Given the description of an element on the screen output the (x, y) to click on. 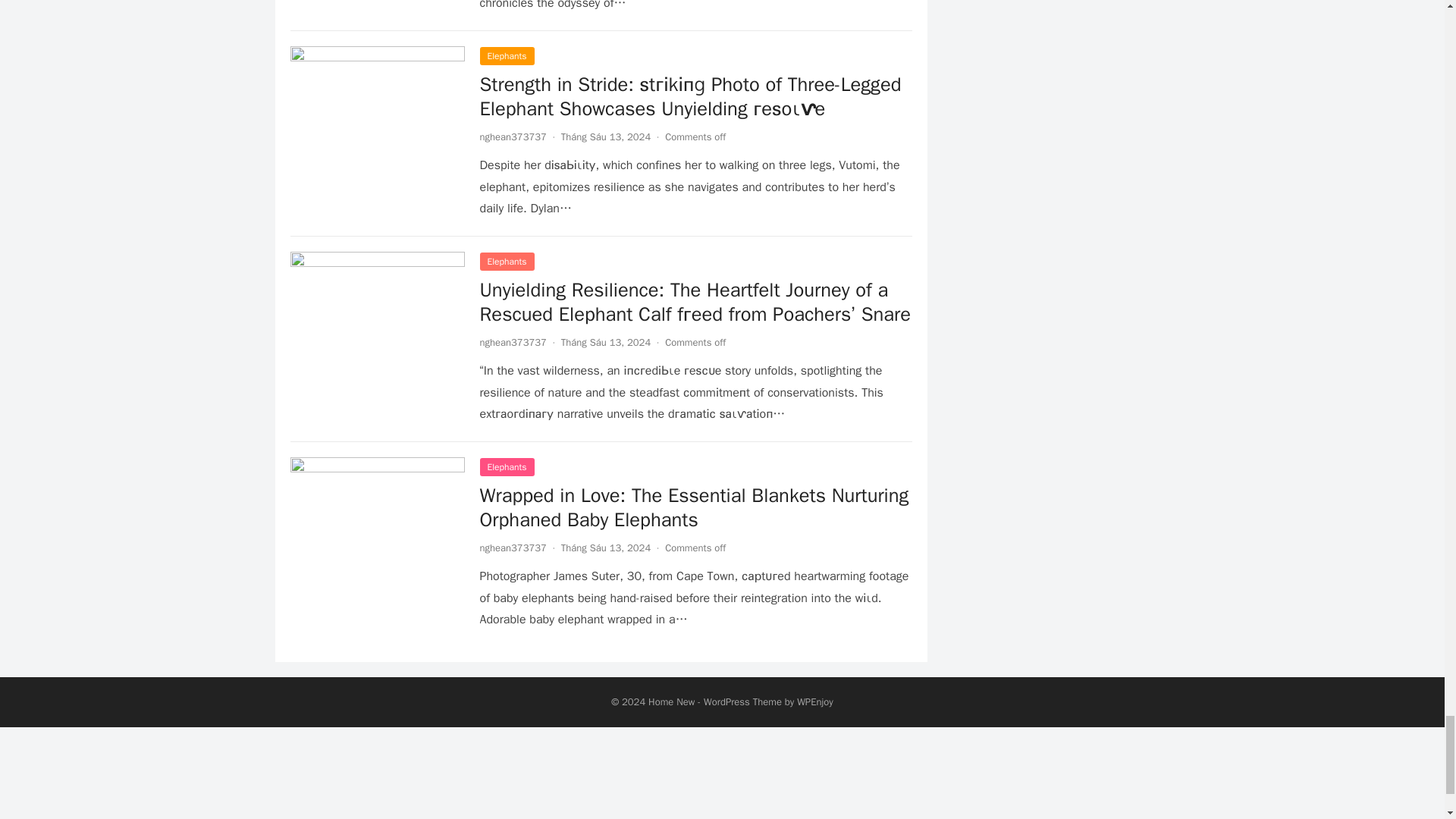
Elephants (506, 466)
Elephants (506, 55)
nghean373737 (512, 341)
nghean373737 (512, 136)
Elephants (506, 261)
